Given the description of an element on the screen output the (x, y) to click on. 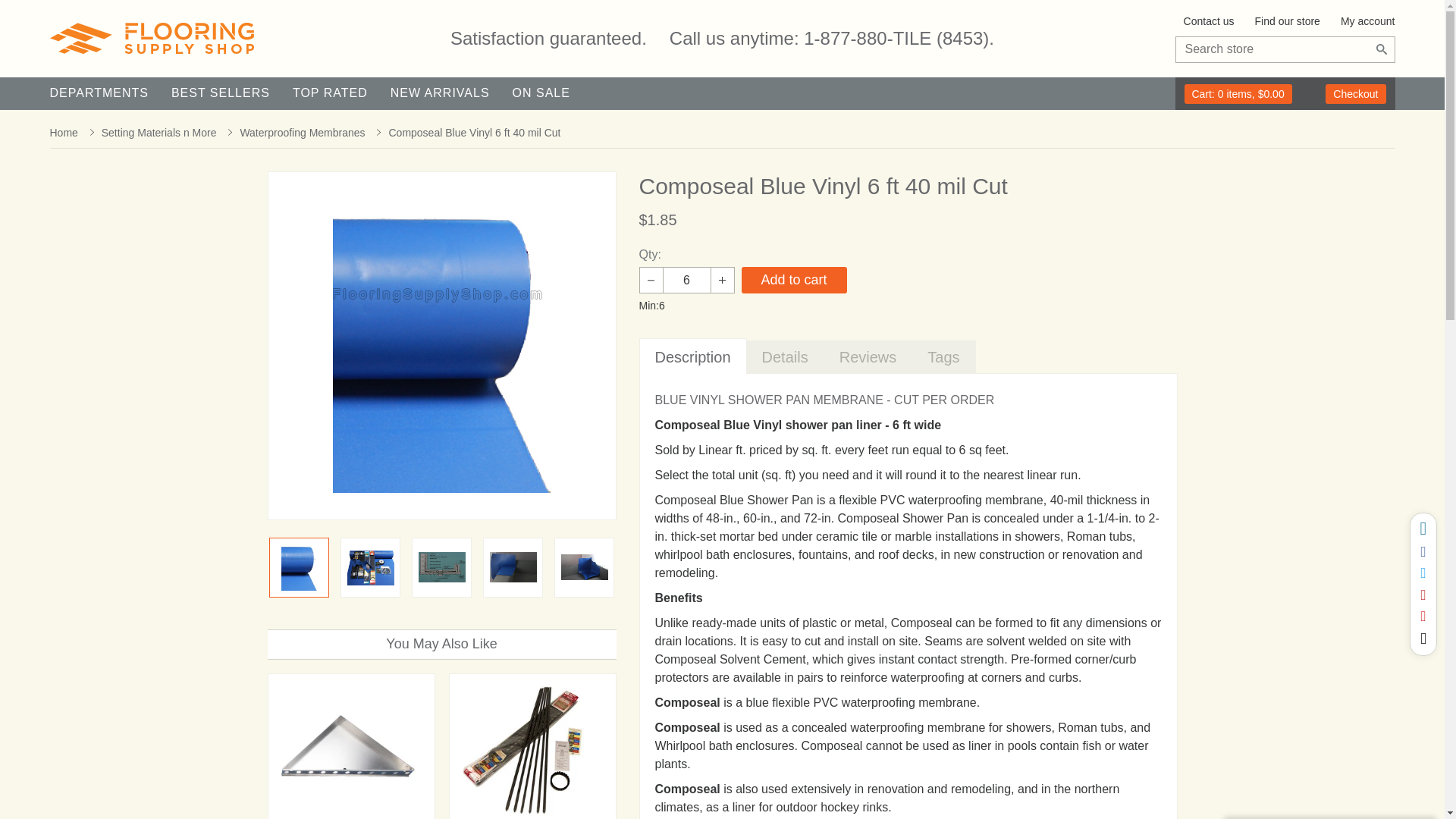
6 (686, 279)
